Given the description of an element on the screen output the (x, y) to click on. 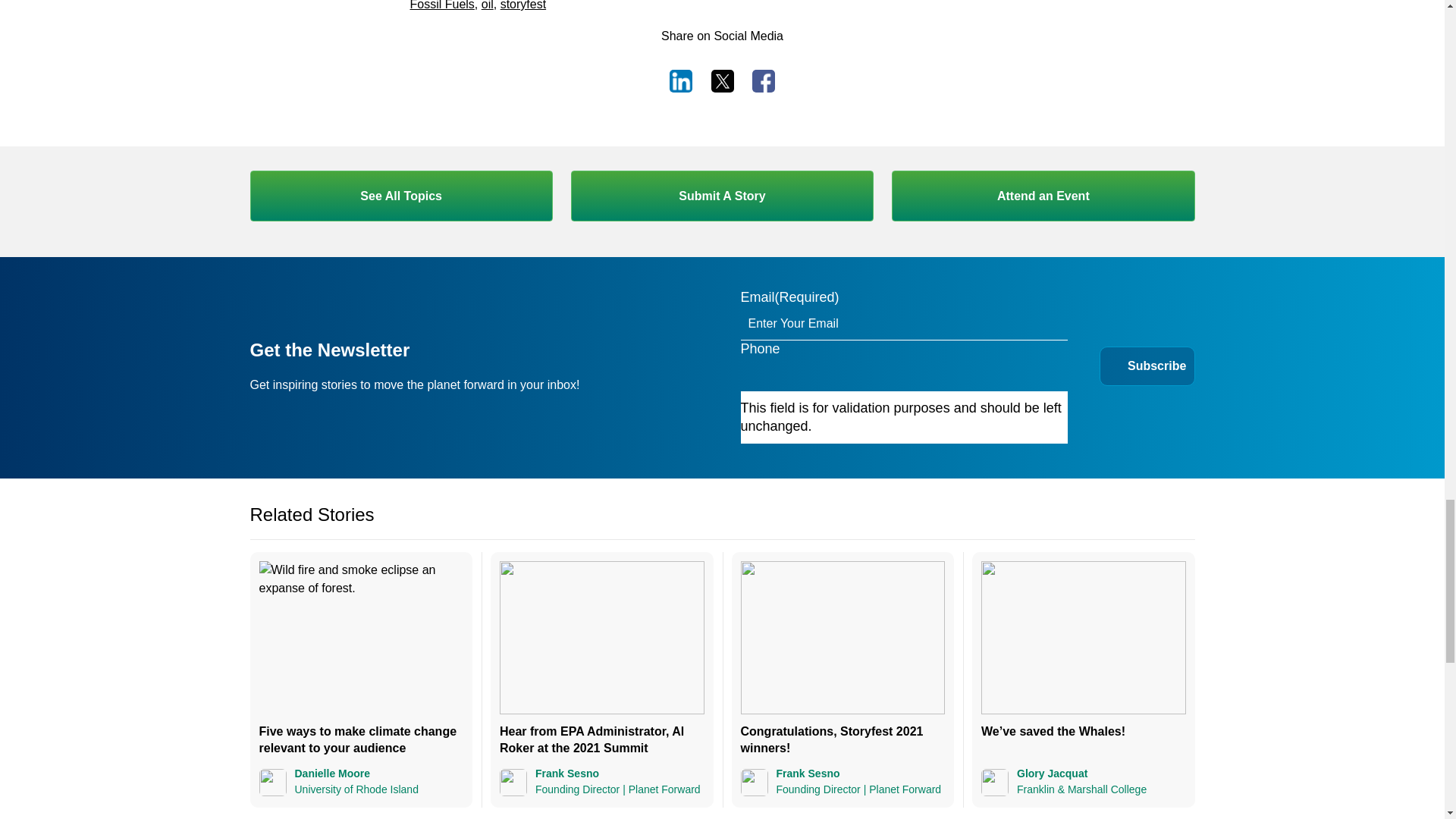
Subscribe (1157, 365)
